Given the description of an element on the screen output the (x, y) to click on. 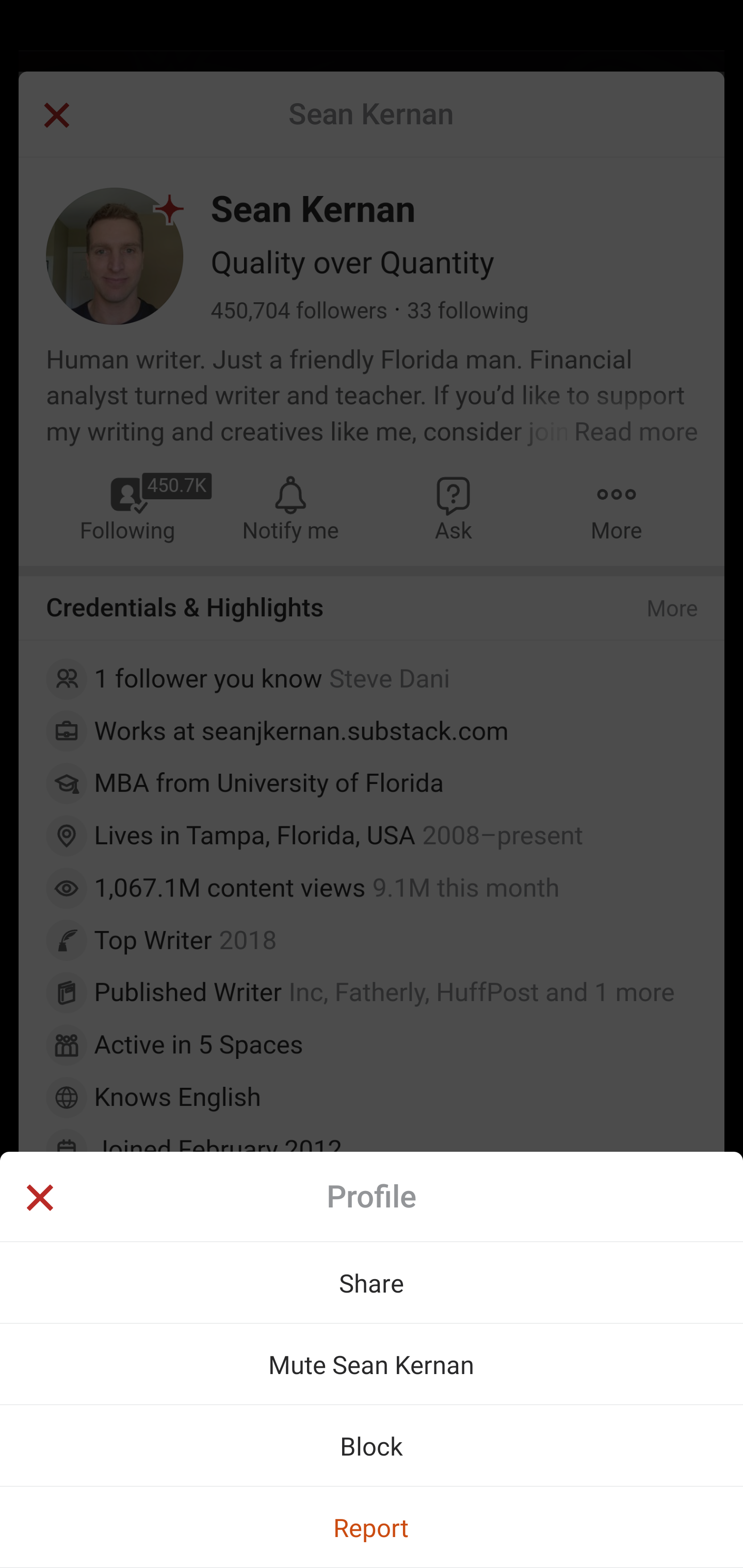
 Profile (371, 1196)
 (39, 1199)
Share (371, 1282)
Mute Sean Kernan (371, 1363)
Block (371, 1445)
Report (371, 1527)
